Given the description of an element on the screen output the (x, y) to click on. 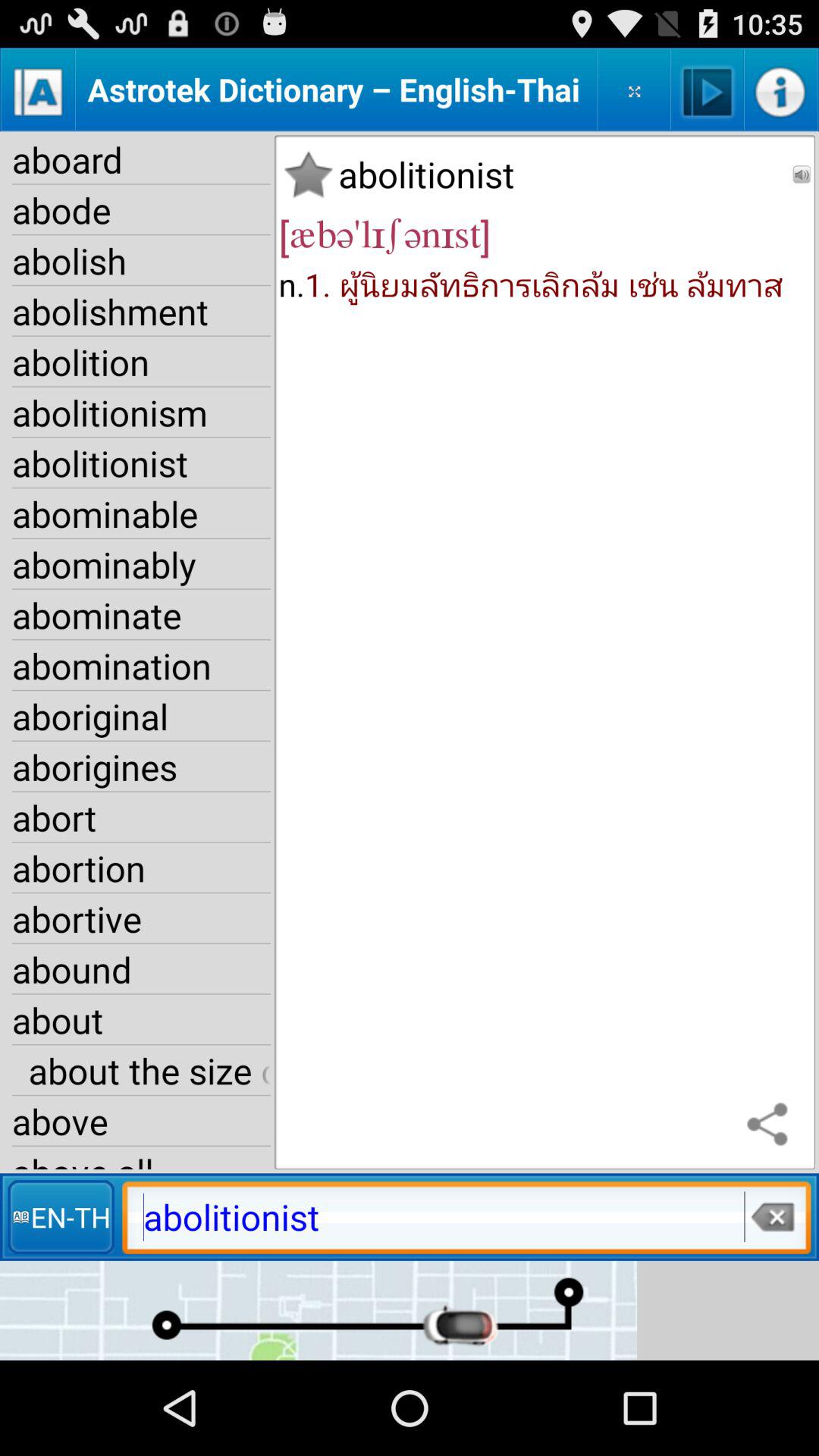
click icon next to the about the size (771, 1125)
